Given the description of an element on the screen output the (x, y) to click on. 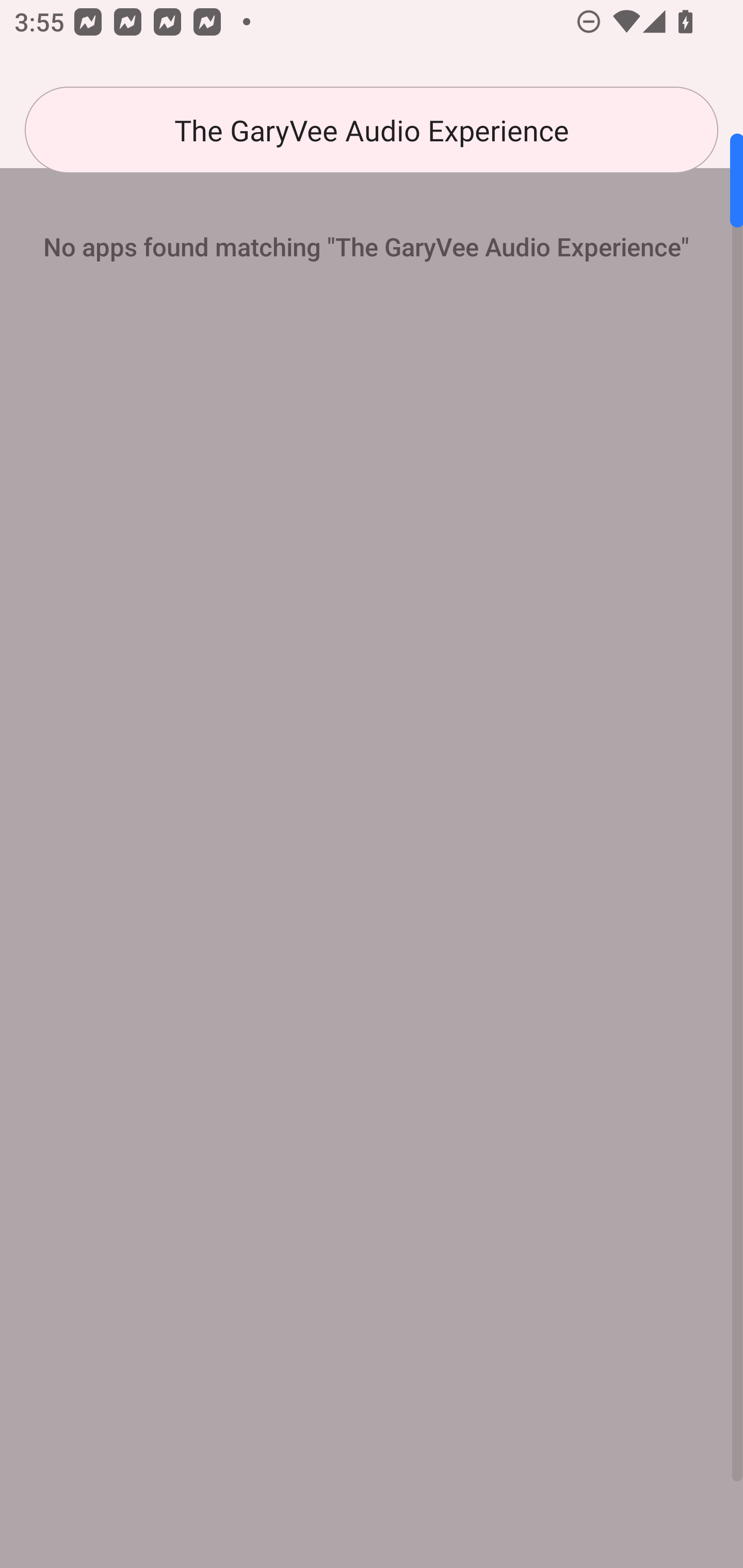
The GaryVee Audio Experience (371, 130)
